Given the description of an element on the screen output the (x, y) to click on. 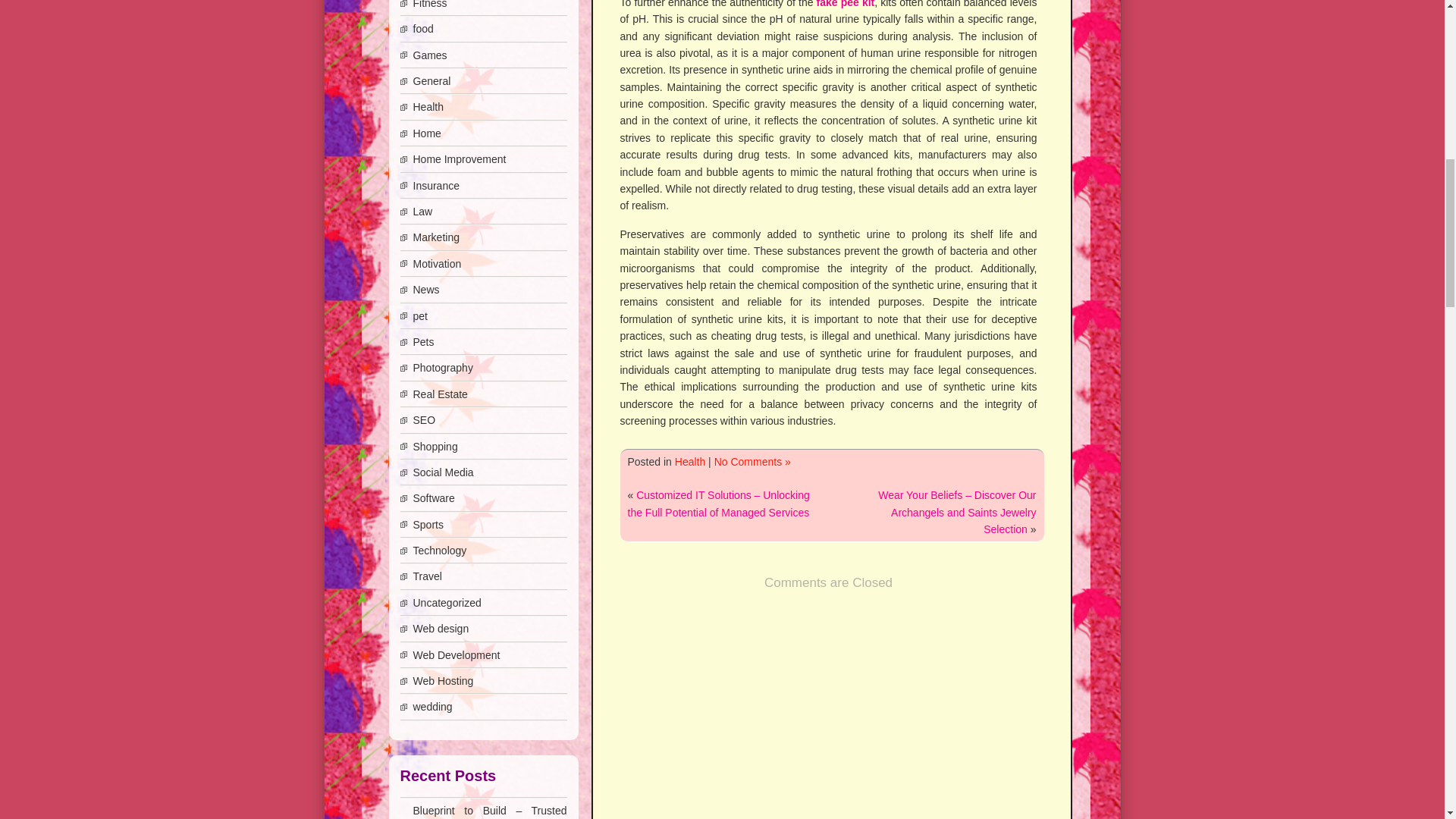
Home (426, 133)
food (422, 28)
Home Improvement (458, 159)
Law (422, 211)
Pets (422, 341)
pet (419, 316)
fake pee kit (845, 4)
Insurance (435, 185)
Health (689, 461)
Motivation (436, 263)
Games (429, 55)
Marketing (435, 236)
General (430, 80)
Fitness (429, 4)
News (425, 289)
